Given the description of an element on the screen output the (x, y) to click on. 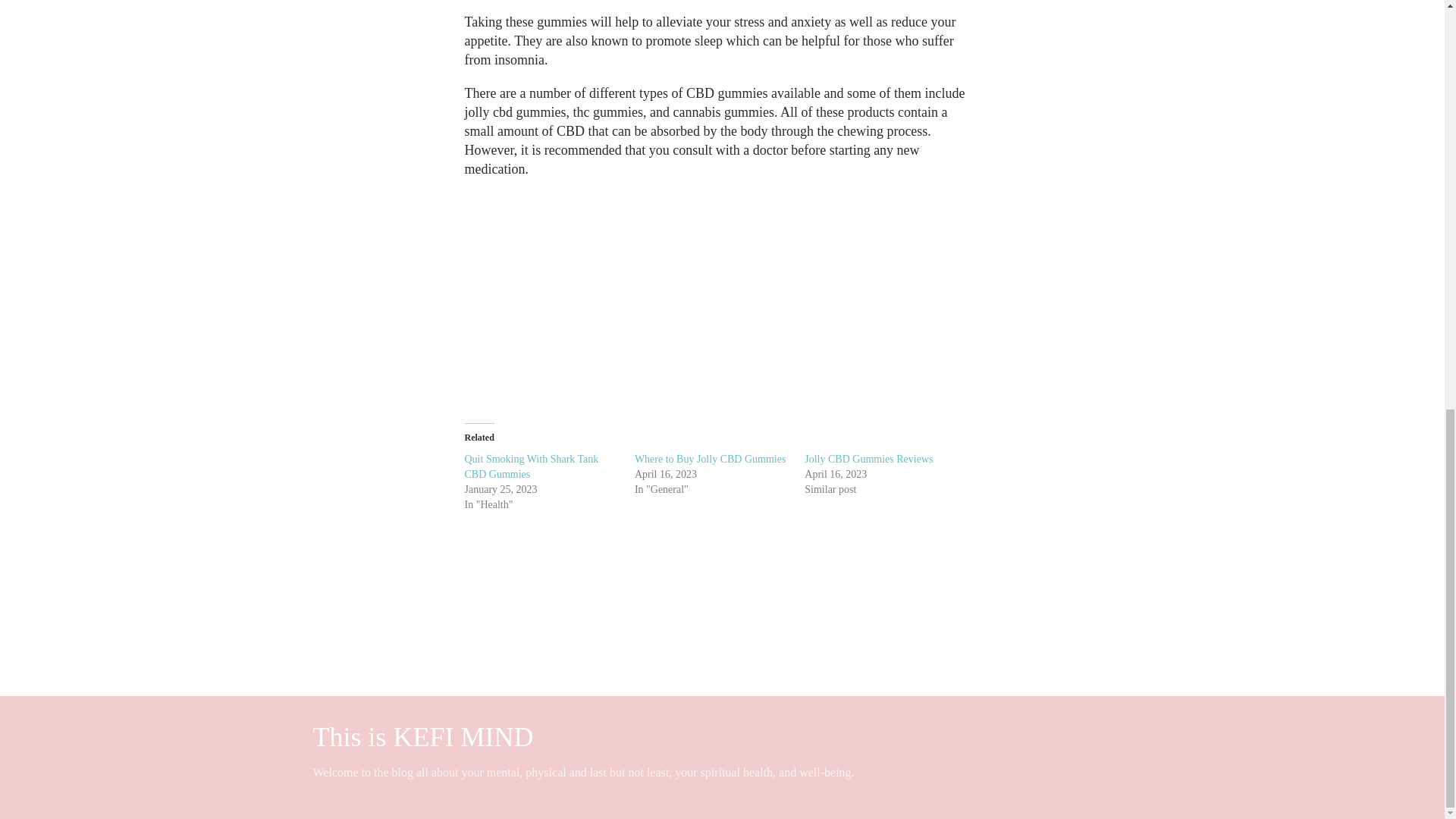
Quit Smoking With Shark Tank CBD Gummies (531, 466)
Quit Smoking With Shark Tank CBD Gummies (531, 466)
Where to Buy Jolly CBD Gummies (710, 459)
Where to Buy Jolly CBD Gummies (710, 459)
Jolly CBD Gummies Reviews (869, 459)
Jolly CBD Gummies Reviews (869, 459)
